Given the description of an element on the screen output the (x, y) to click on. 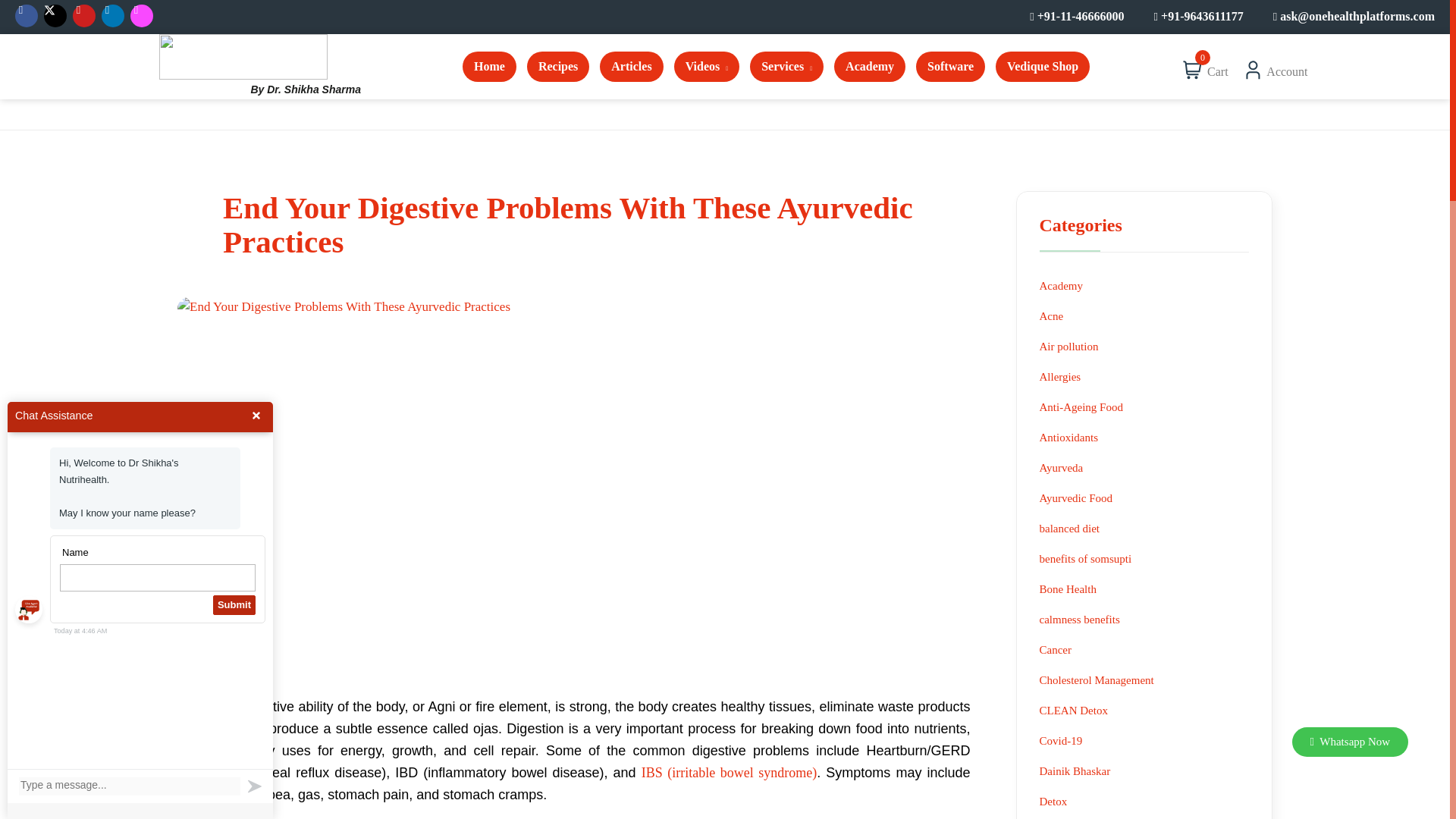
Account (1286, 67)
Services (786, 69)
Videos (707, 69)
Cart (1215, 67)
